Given the description of an element on the screen output the (x, y) to click on. 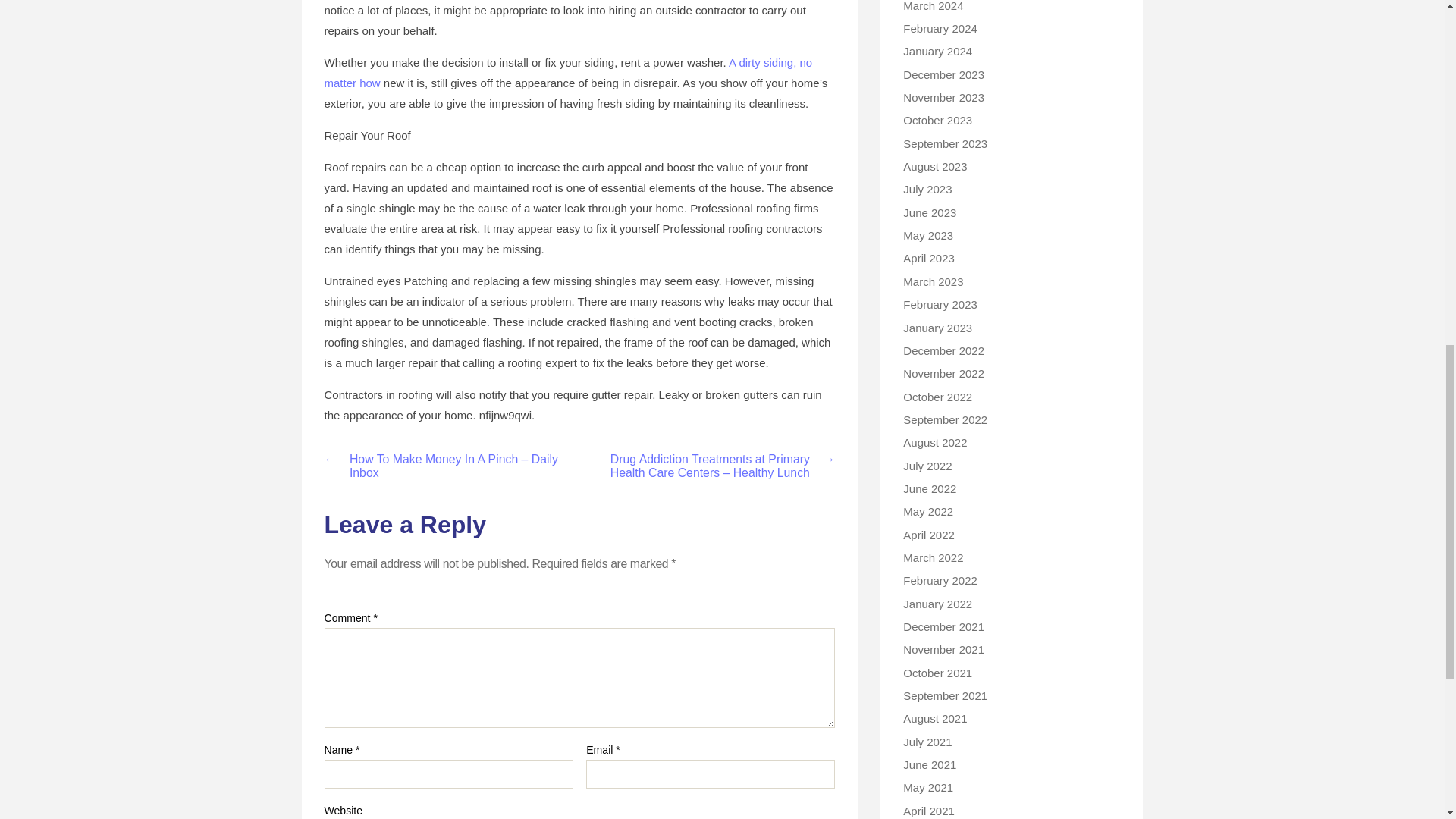
December 2023 (943, 74)
September 2023 (944, 143)
February 2024 (939, 28)
October 2023 (937, 119)
A dirty siding, no matter how (568, 72)
January 2024 (937, 51)
March 2024 (932, 6)
August 2023 (934, 165)
November 2023 (943, 97)
